Given the description of an element on the screen output the (x, y) to click on. 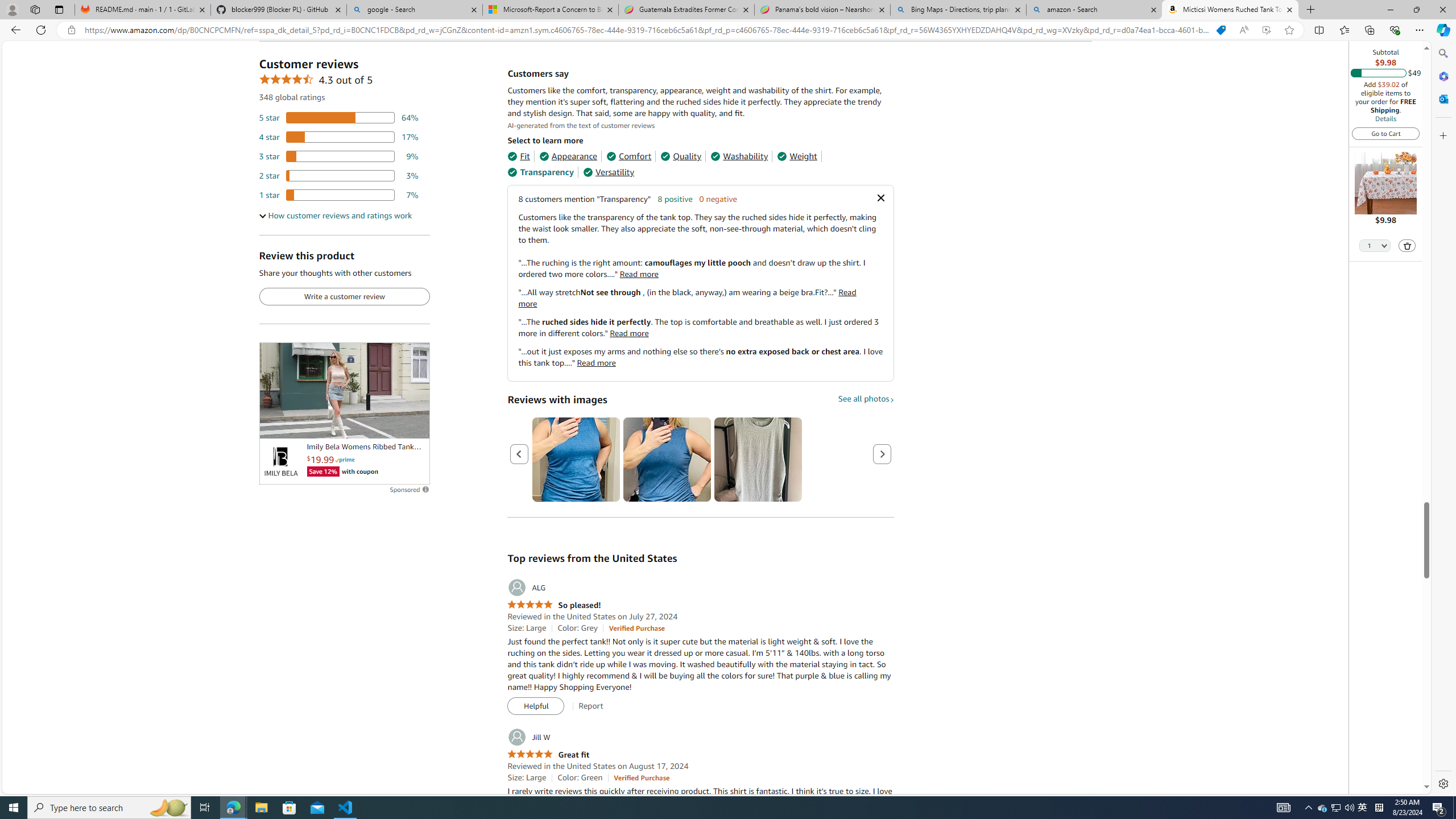
Fit (517, 156)
7 percent of reviews have 1 stars (339, 195)
Customer Image (758, 459)
Jill W (528, 736)
Versatility (608, 172)
Next page (882, 453)
Appearance (568, 156)
Write a customer review (344, 296)
